Given the description of an element on the screen output the (x, y) to click on. 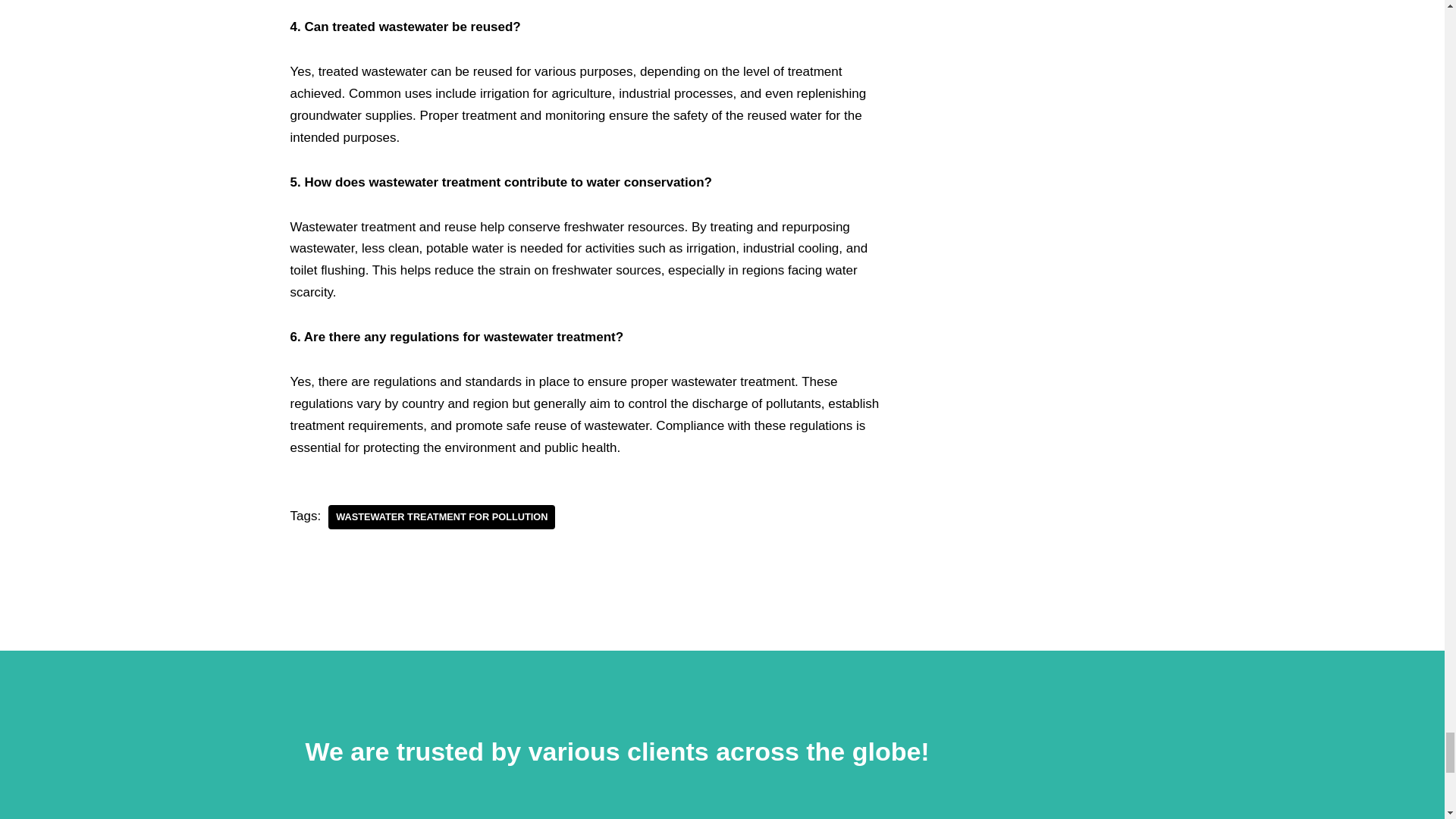
Wastewater Treatment For Pollution (441, 517)
